Given the description of an element on the screen output the (x, y) to click on. 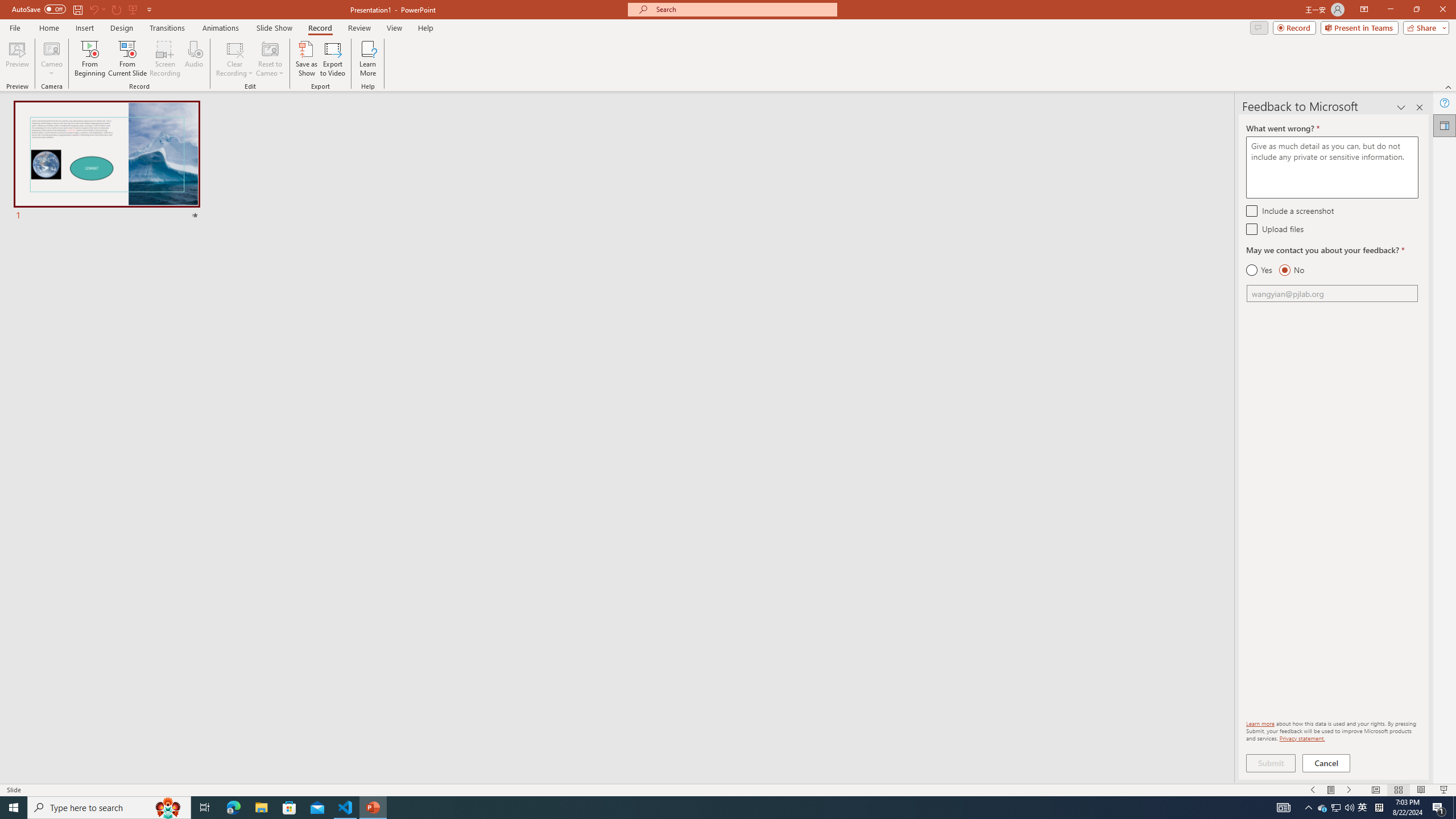
Learn more (1260, 723)
Include a screenshot (1251, 210)
